Given the description of an element on the screen output the (x, y) to click on. 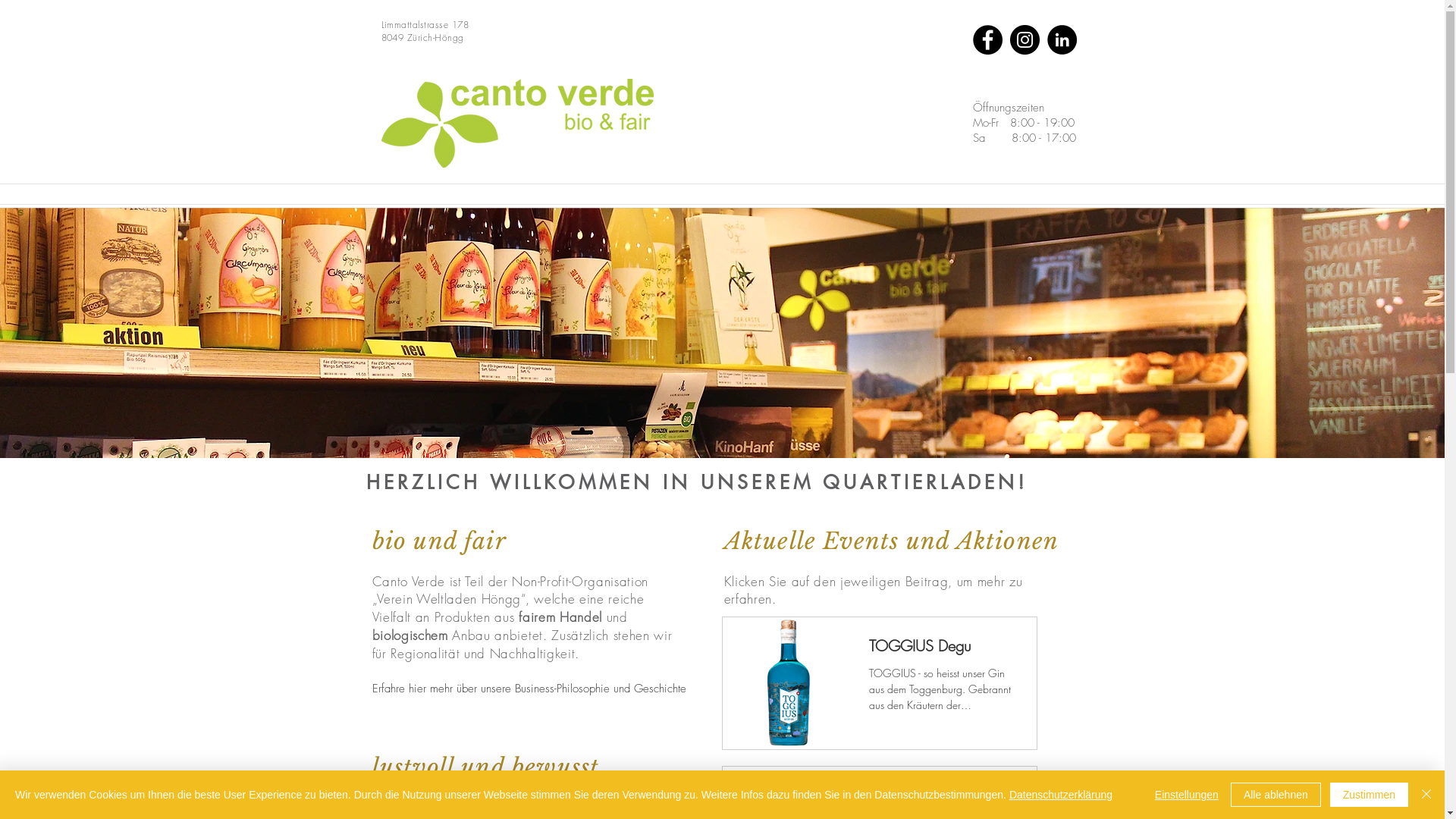
Alle ablehnen Element type: text (1275, 794)
TOGGIUS Degu Element type: text (945, 650)
Zustimmen Element type: text (1369, 794)
